Given the description of an element on the screen output the (x, y) to click on. 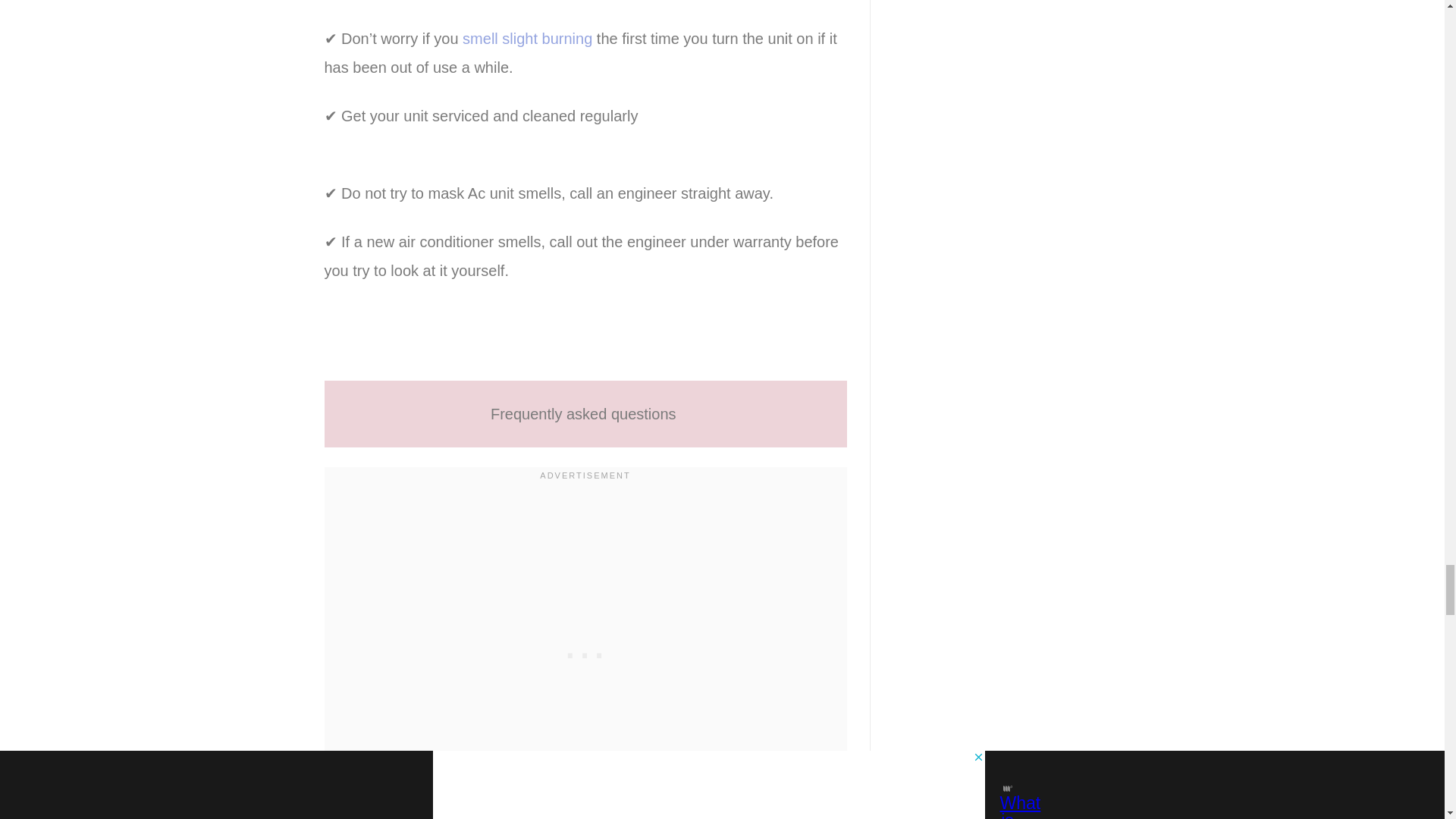
smell slight burning (527, 38)
